Given the description of an element on the screen output the (x, y) to click on. 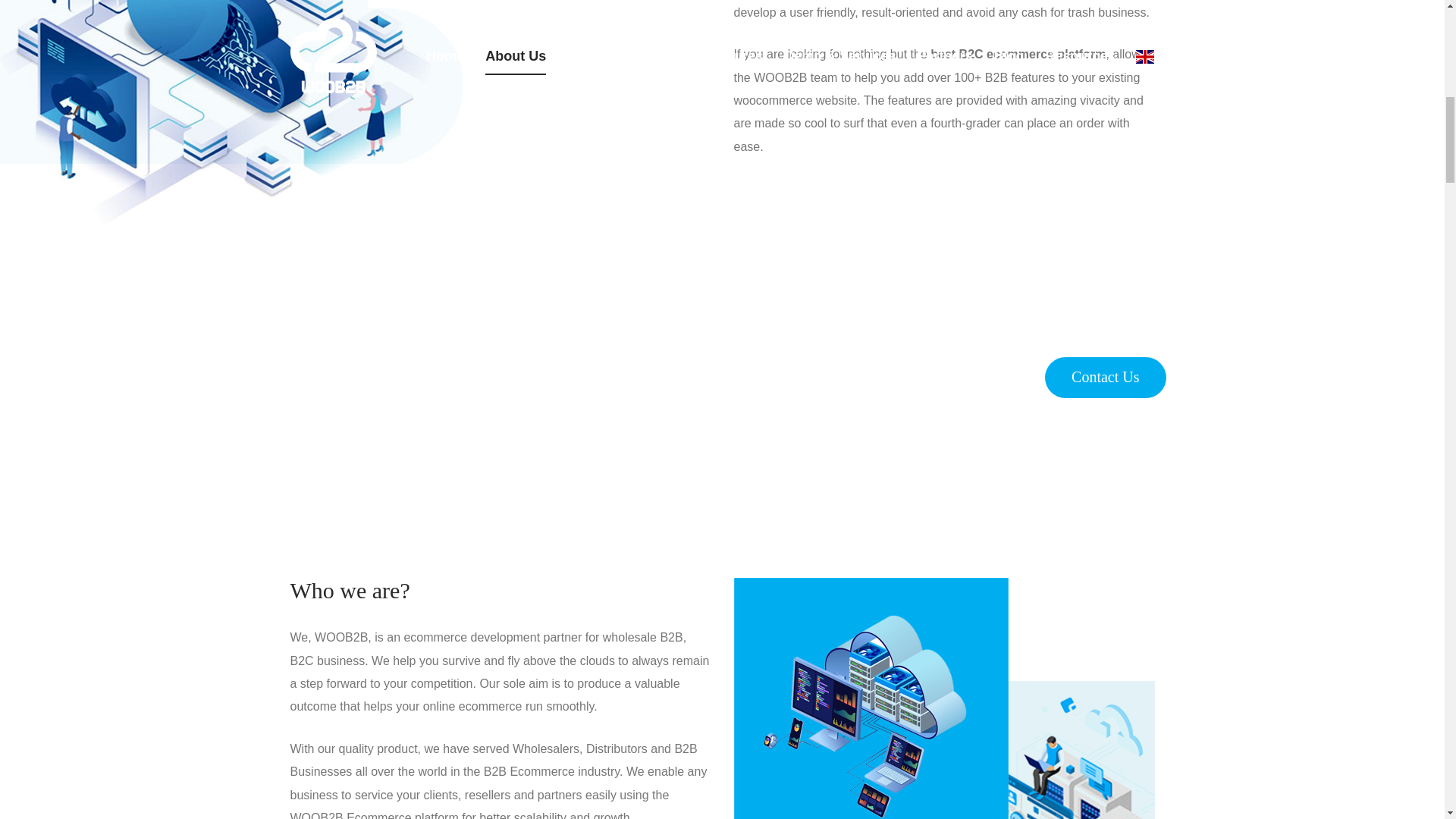
Contact Us (1105, 377)
